Given the description of an element on the screen output the (x, y) to click on. 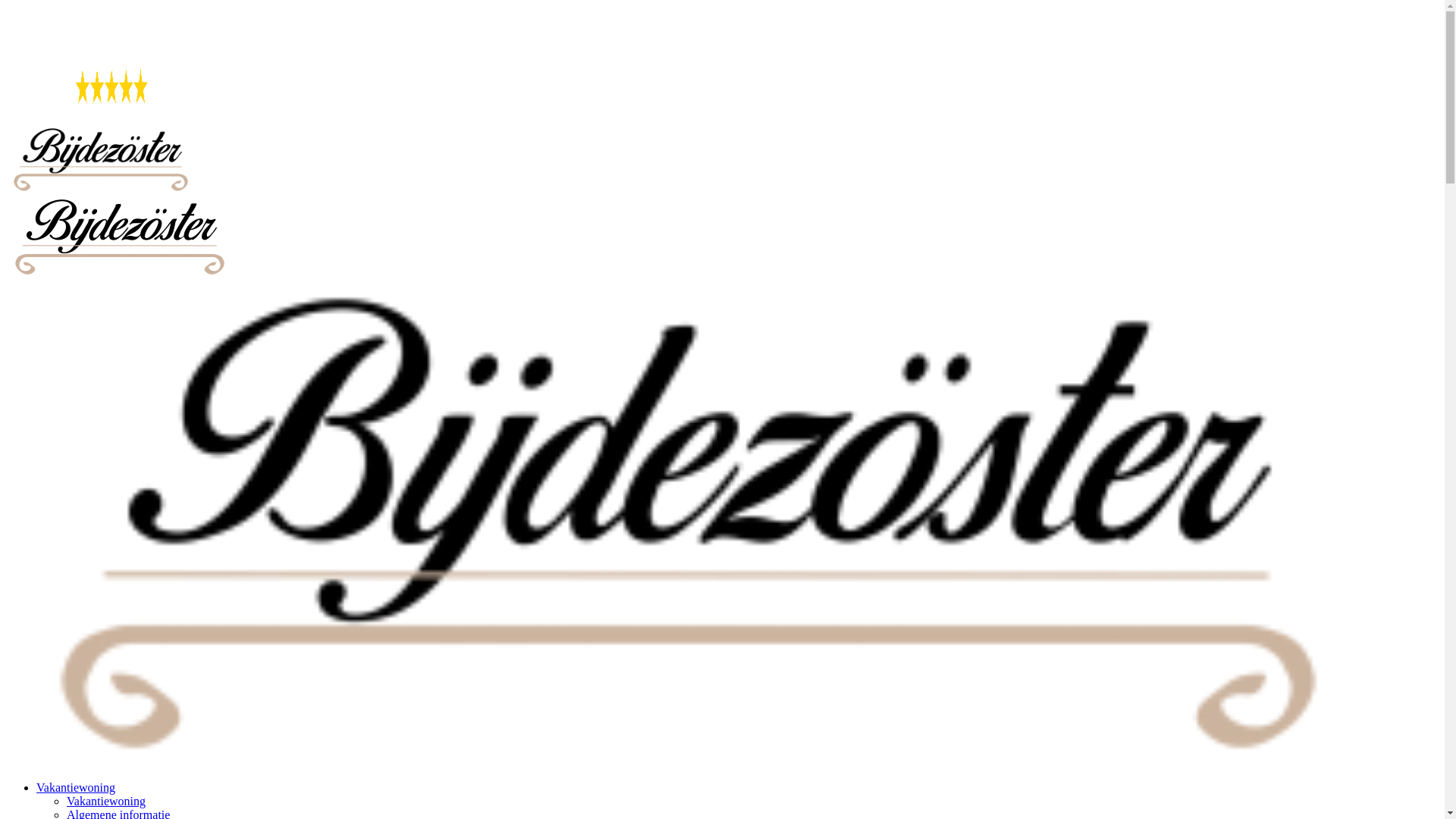
Vakantiewoning Element type: text (105, 800)
Vakantiewoning Element type: text (75, 787)
